Given the description of an element on the screen output the (x, y) to click on. 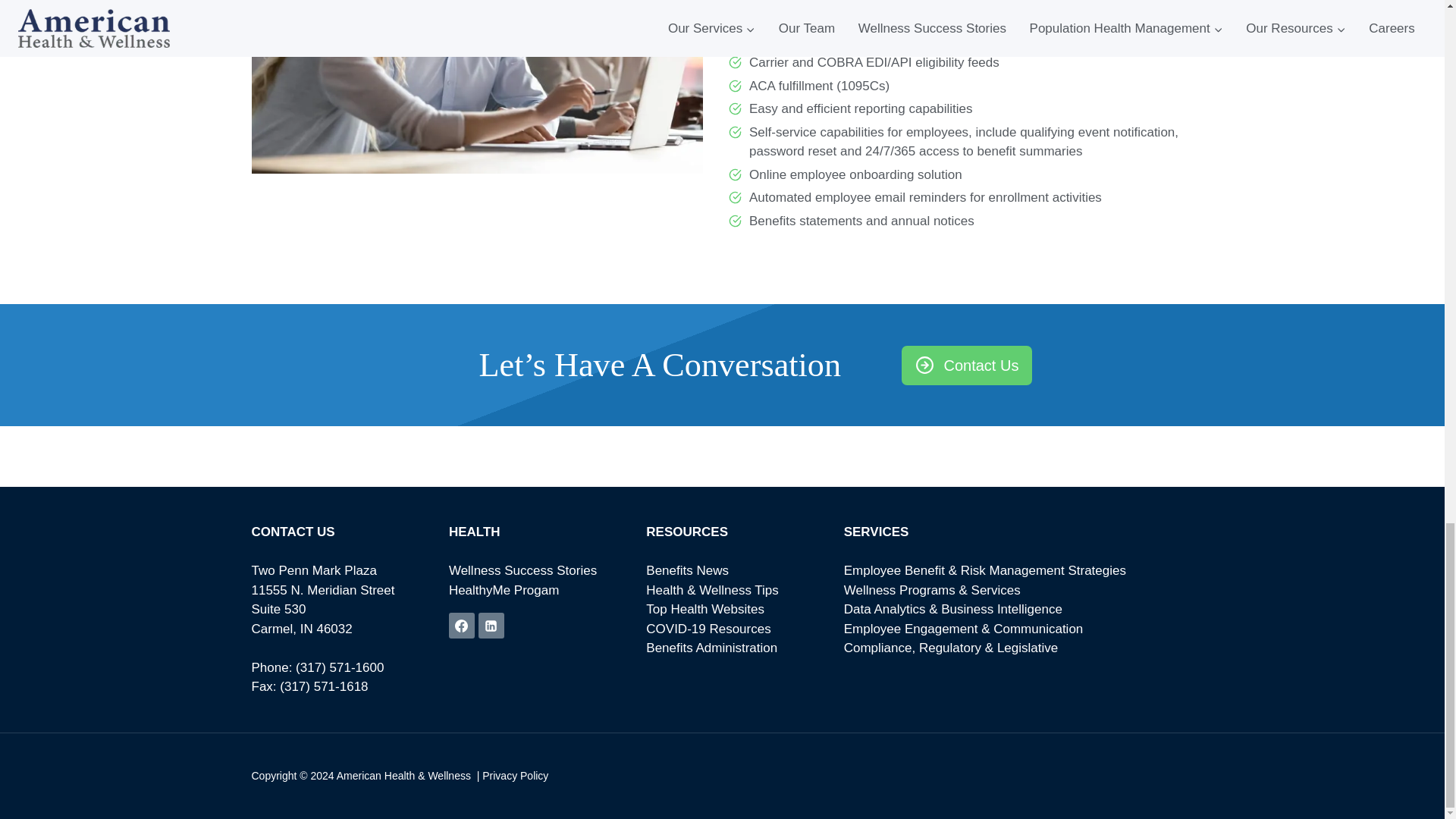
Benefits News (687, 570)
Benefits Administration (711, 647)
HealthyMe Progam (503, 590)
Contact Us (966, 364)
COVID-19 Resources (708, 628)
Wellness Success Stories (522, 570)
Top Health Websites (705, 608)
